Given the description of an element on the screen output the (x, y) to click on. 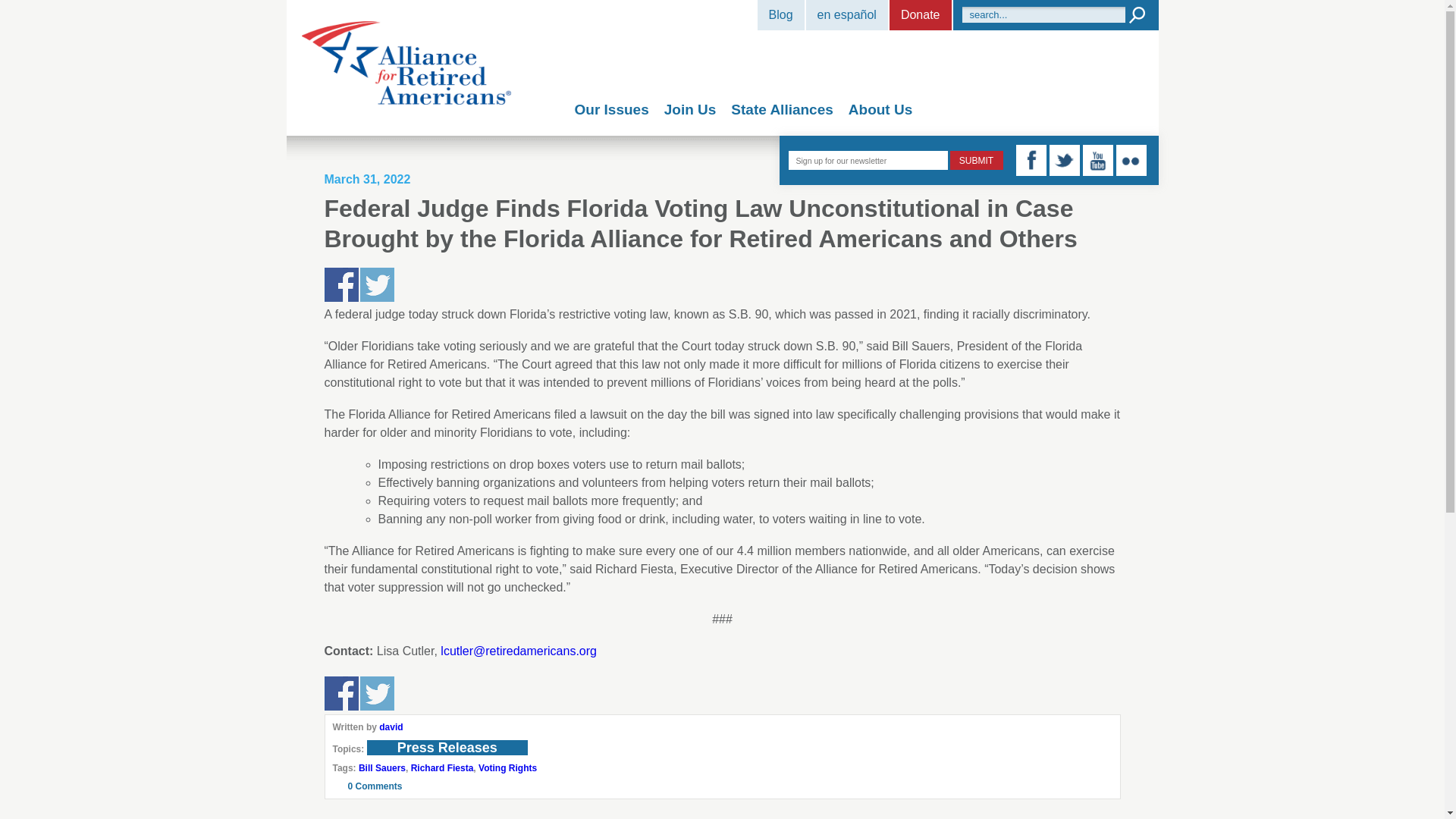
search... (1042, 14)
Posts by david (390, 726)
Donate (920, 15)
State Alliances (781, 109)
Blog (781, 15)
Our Issues (612, 109)
Join Us (689, 109)
SUBMIT (976, 159)
